Given the description of an element on the screen output the (x, y) to click on. 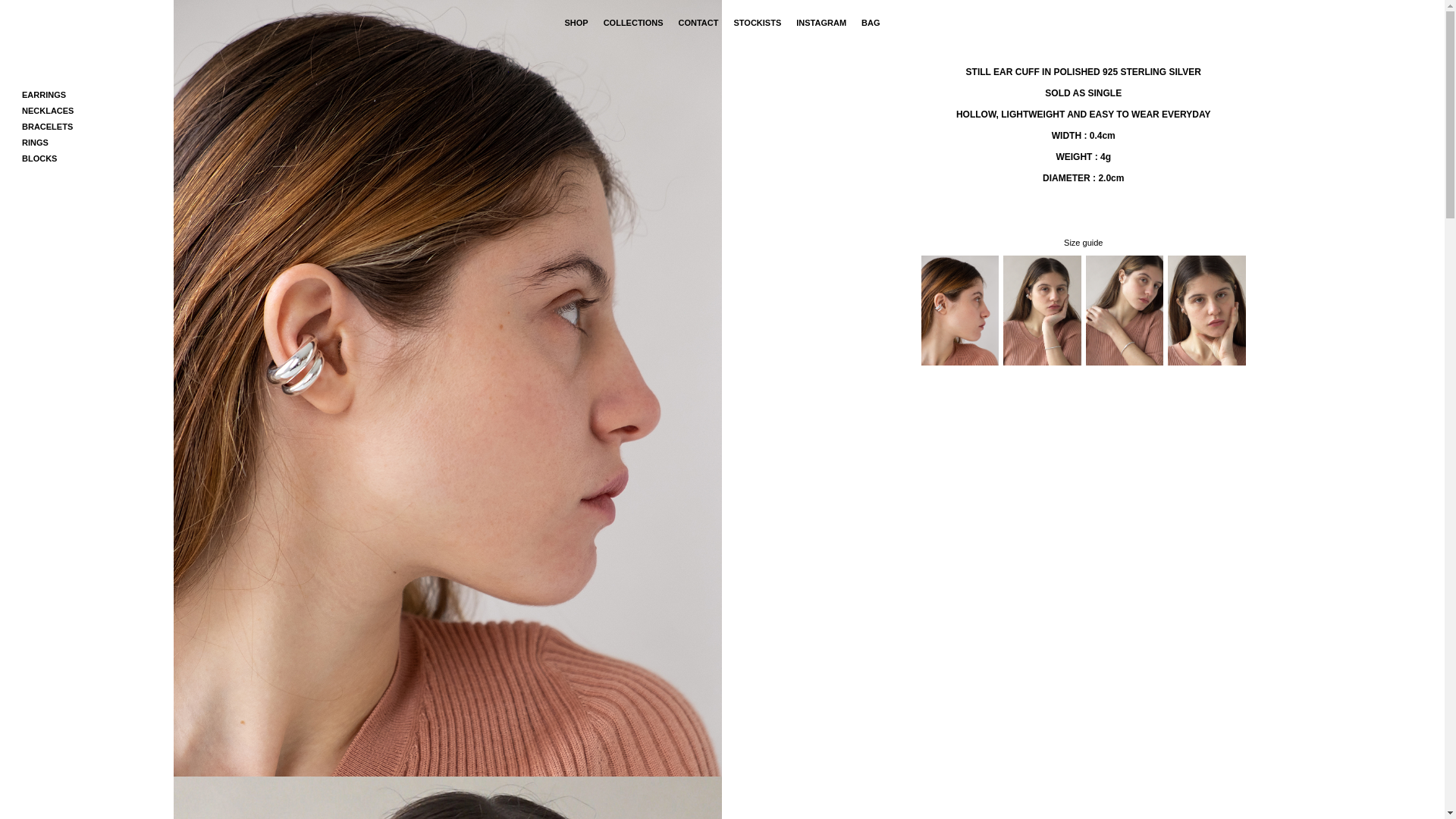
NECKLACES Element type: text (47, 110)
CONTACT Element type: text (698, 22)
COLLECTIONS Element type: text (633, 22)
STOCKISTS Element type: text (757, 22)
INSTAGRAM Element type: text (821, 22)
RINGS Element type: text (34, 142)
BRACELETS Element type: text (46, 126)
BAG Element type: text (870, 22)
EARRINGS Element type: text (43, 94)
SHOP Element type: text (575, 22)
BLOCKS Element type: text (38, 158)
